Given the description of an element on the screen output the (x, y) to click on. 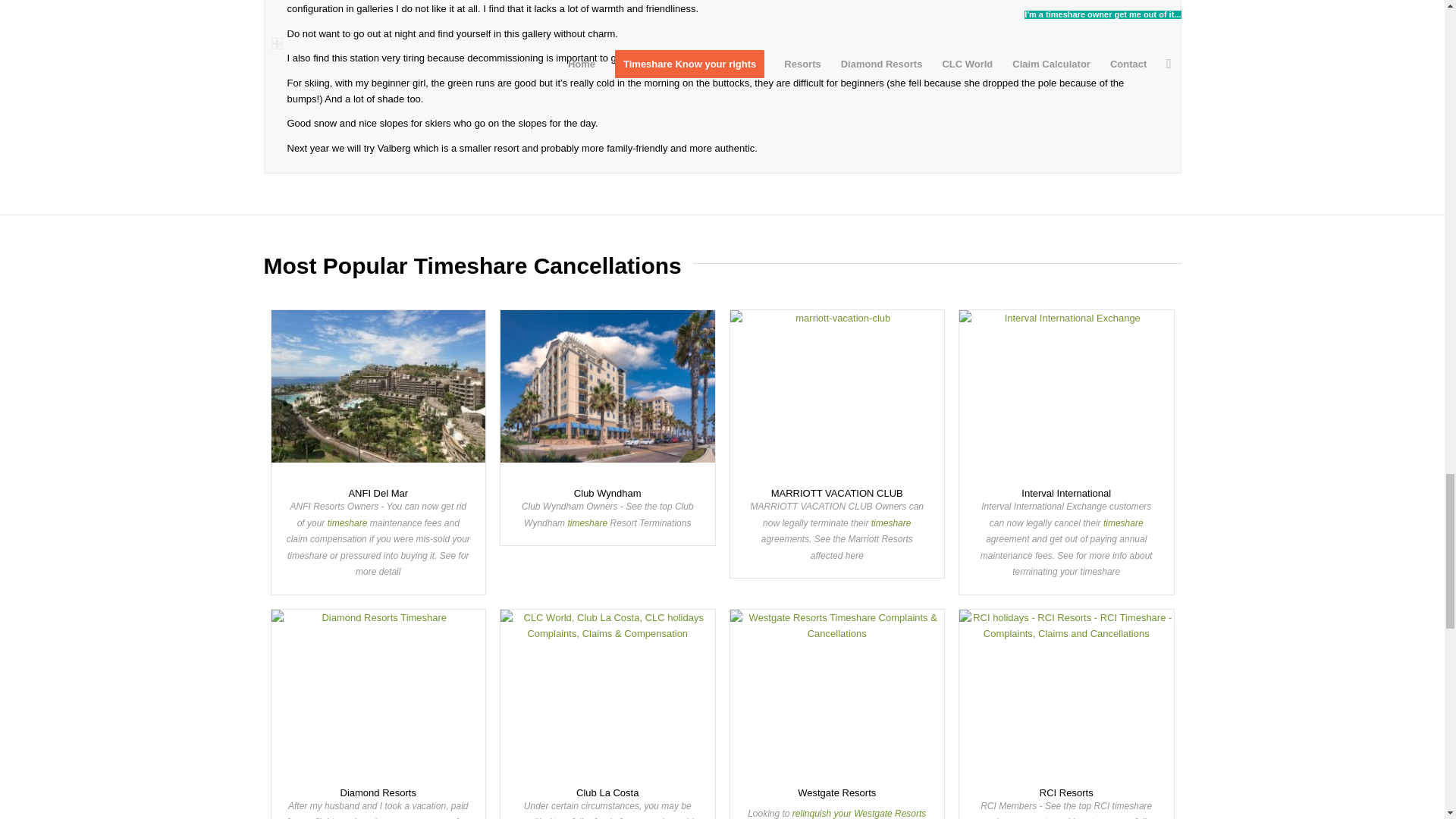
MARRIOTT VACATION CLUB (836, 391)
Club Wyndham (607, 391)
Interval International (1066, 391)
RCI Resorts (1066, 691)
Club La Costa (607, 691)
ANFI Del Mar (378, 391)
Diamond Resorts (378, 691)
Westgate Resorts (836, 691)
